Given the description of an element on the screen output the (x, y) to click on. 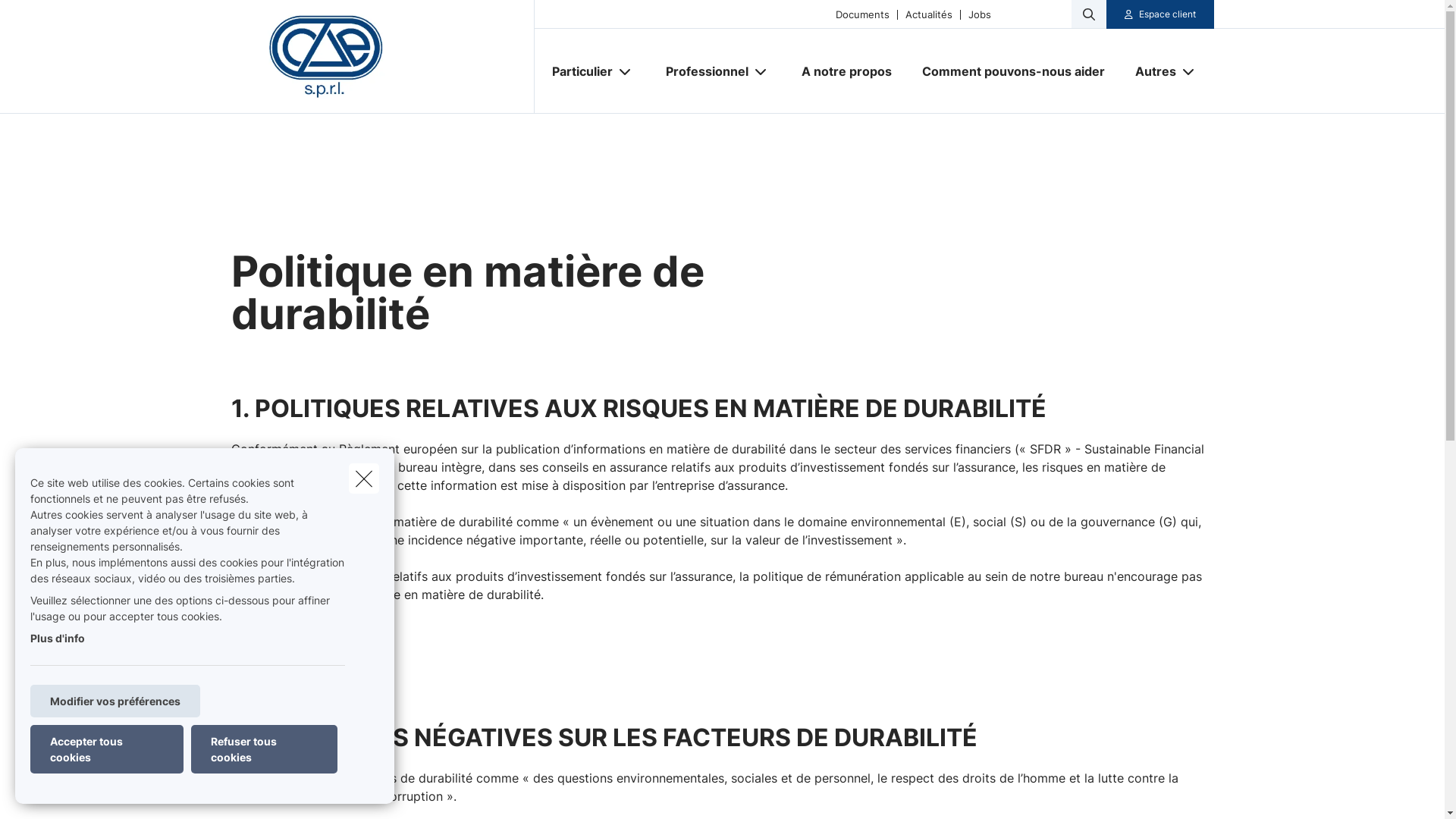
Comment pouvons-nous aider Element type: text (1013, 70)
Espace client Element type: text (1167, 14)
Professionnel Element type: text (701, 70)
Jobs Element type: text (979, 13)
Rechercher Element type: text (54, 18)
Espace client Element type: text (1160, 14)
Documents Element type: text (862, 13)
Plus d'info Element type: text (57, 637)
Accepter tous cookies Element type: text (106, 748)
Refuser tous cookies Element type: text (264, 748)
A notre propos Element type: text (845, 70)
Particulier Element type: text (576, 70)
Autres Element type: text (1149, 70)
